Given the description of an element on the screen output the (x, y) to click on. 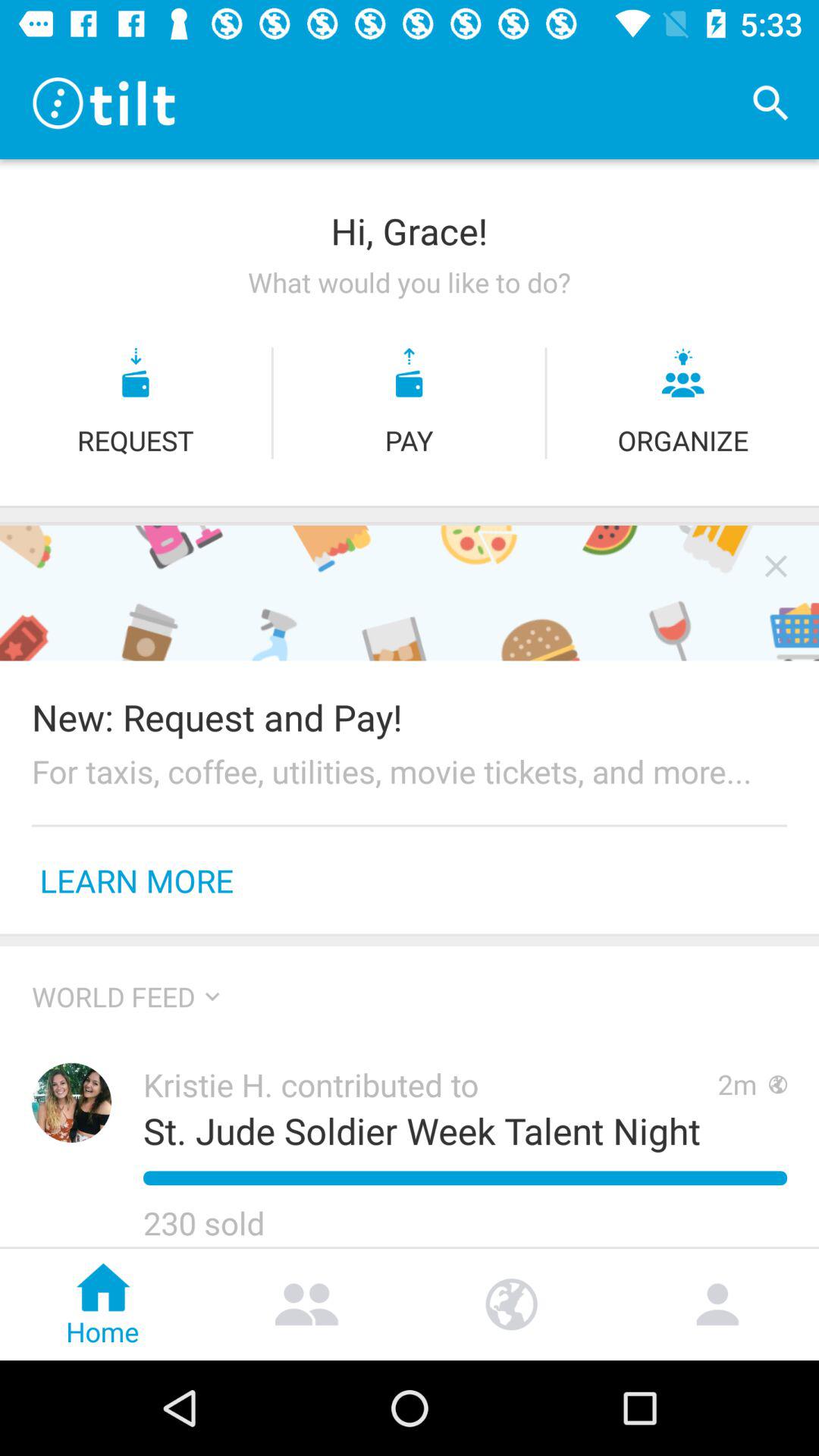
choose icon above the for taxis coffee item (409, 716)
